Given the description of an element on the screen output the (x, y) to click on. 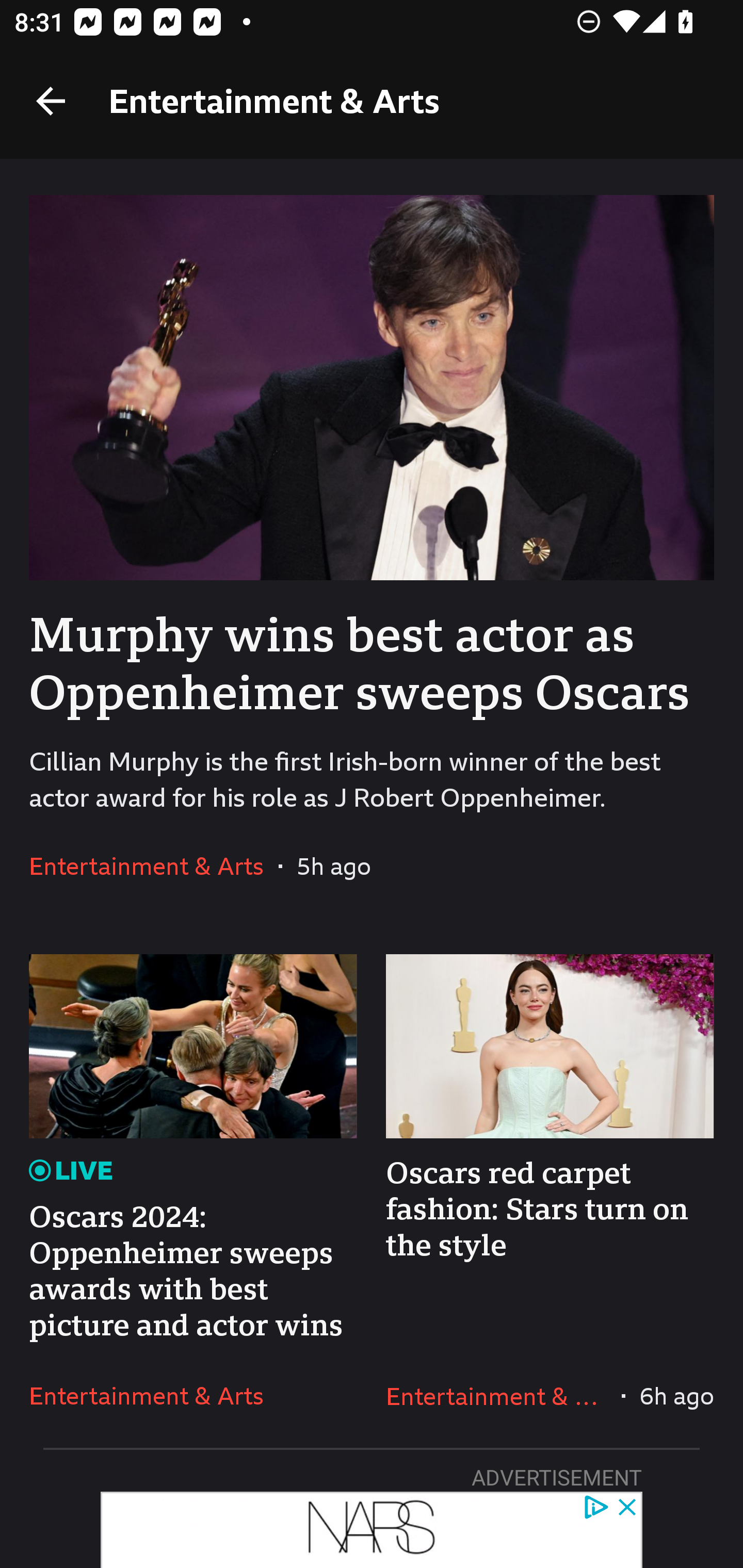
Back (50, 101)
